Given the description of an element on the screen output the (x, y) to click on. 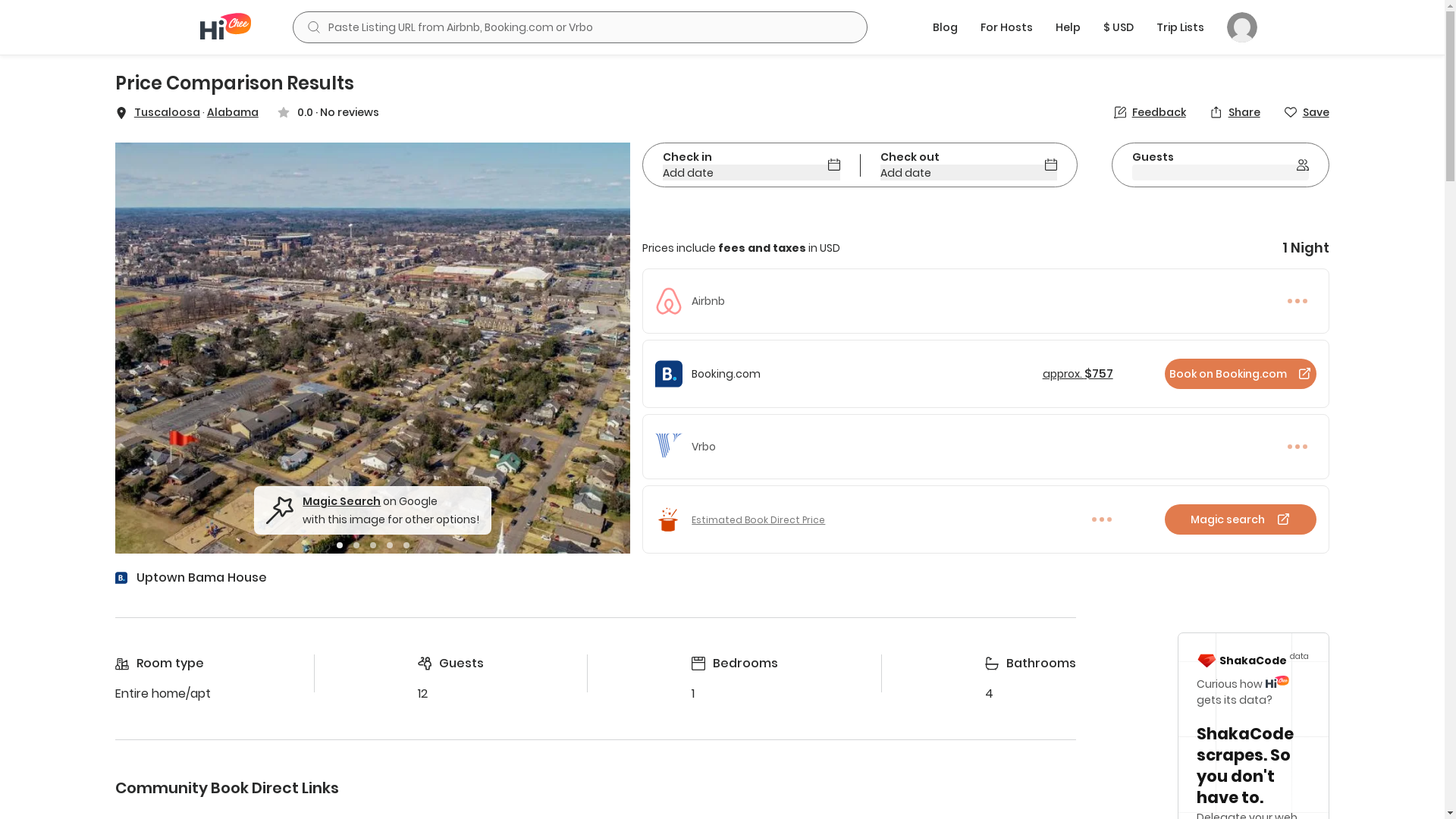
For Hosts (1006, 27)
Map pin (121, 112)
Feedback (1150, 112)
Share (1235, 112)
Trip Lists (1179, 27)
Alabama (232, 111)
HiCheeLogoColorful (225, 26)
Tuscaloosa (167, 111)
HiCheeLogoColorful (225, 25)
Incognito (1242, 27)
Save (1306, 112)
